Given the description of an element on the screen output the (x, y) to click on. 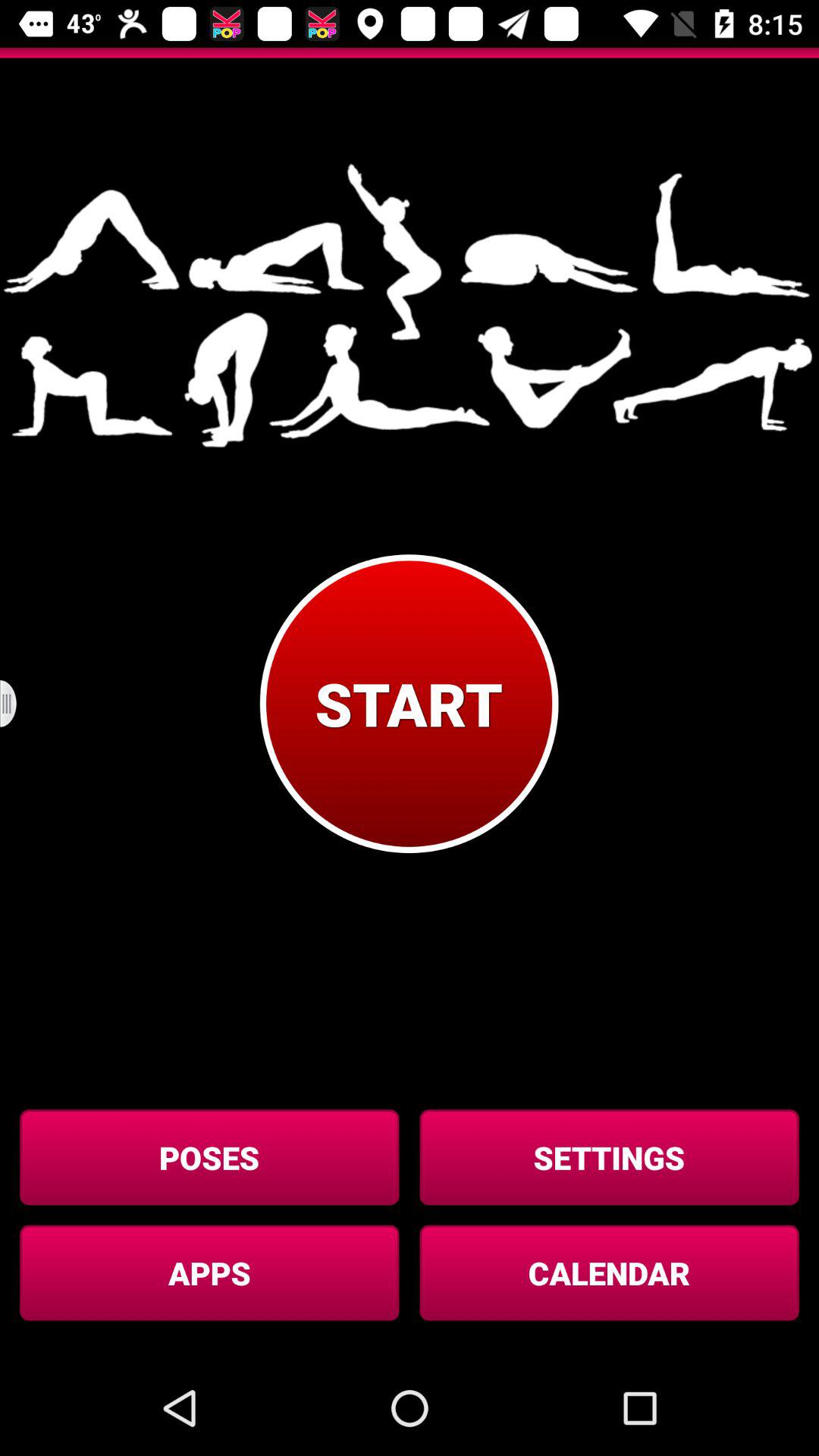
press icon next to the calendar (209, 1272)
